Given the description of an element on the screen output the (x, y) to click on. 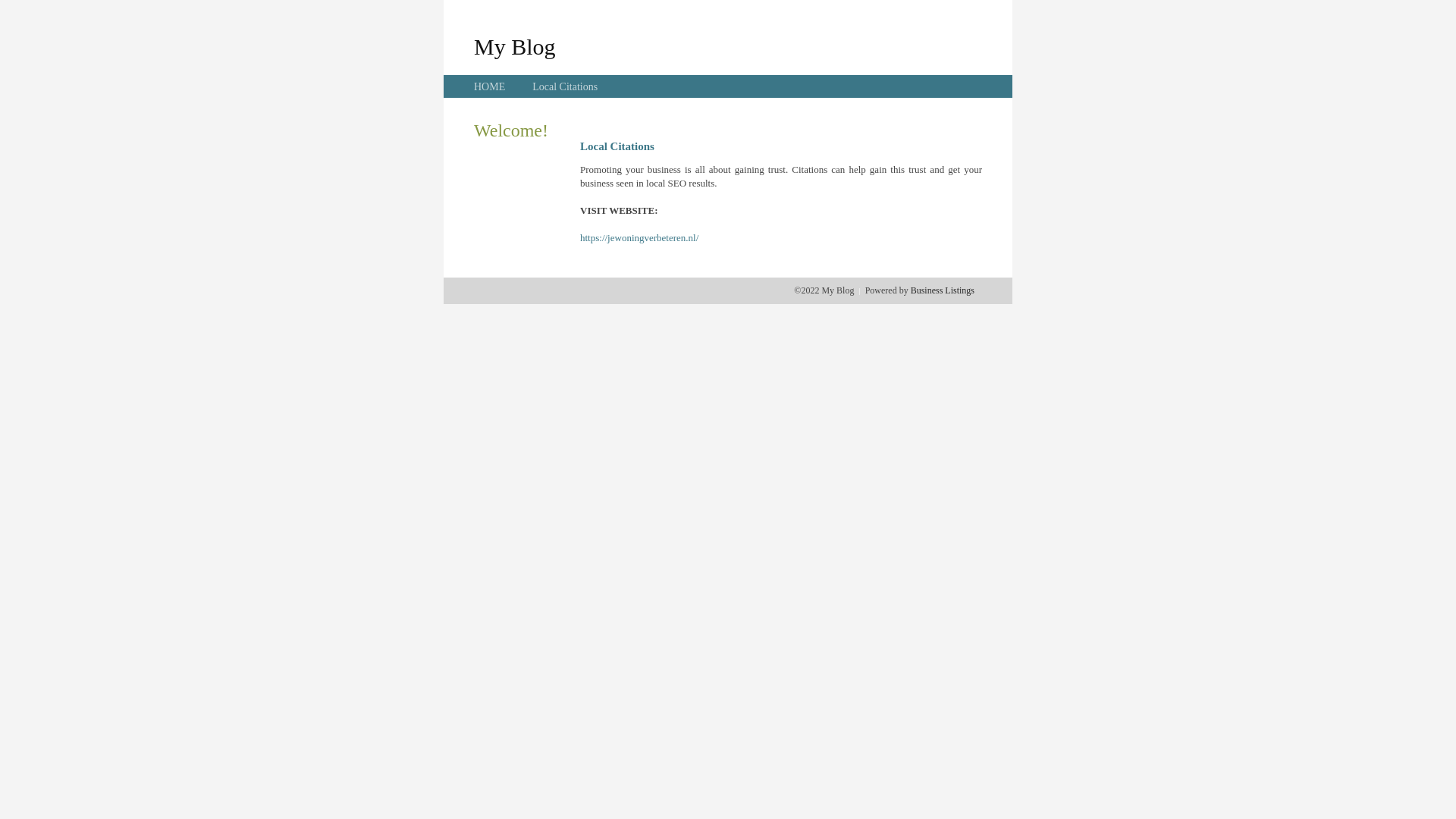
My Blog Element type: text (514, 46)
https://jewoningverbeteren.nl/ Element type: text (639, 237)
HOME Element type: text (489, 86)
Local Citations Element type: text (564, 86)
Business Listings Element type: text (942, 290)
